Given the description of an element on the screen output the (x, y) to click on. 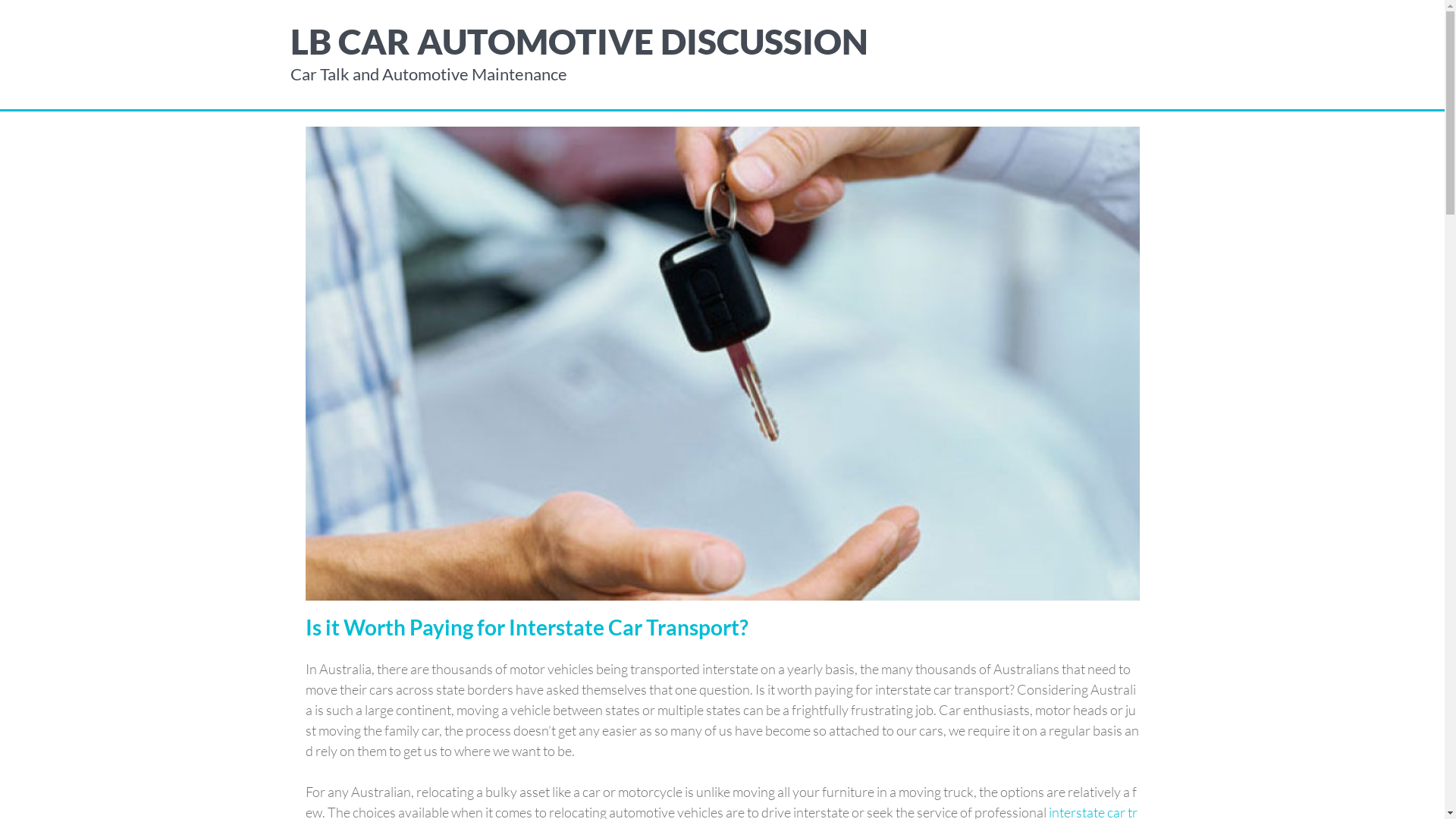
Is it Worth Paying for Interstate Car Transport? Element type: text (525, 627)
Is it Worth Paying for Interstate Car Transport? Element type: hover (721, 361)
LB CAR AUTOMOTIVE DISCUSSION Element type: text (578, 41)
Skip to content Element type: text (0, 0)
